Given the description of an element on the screen output the (x, y) to click on. 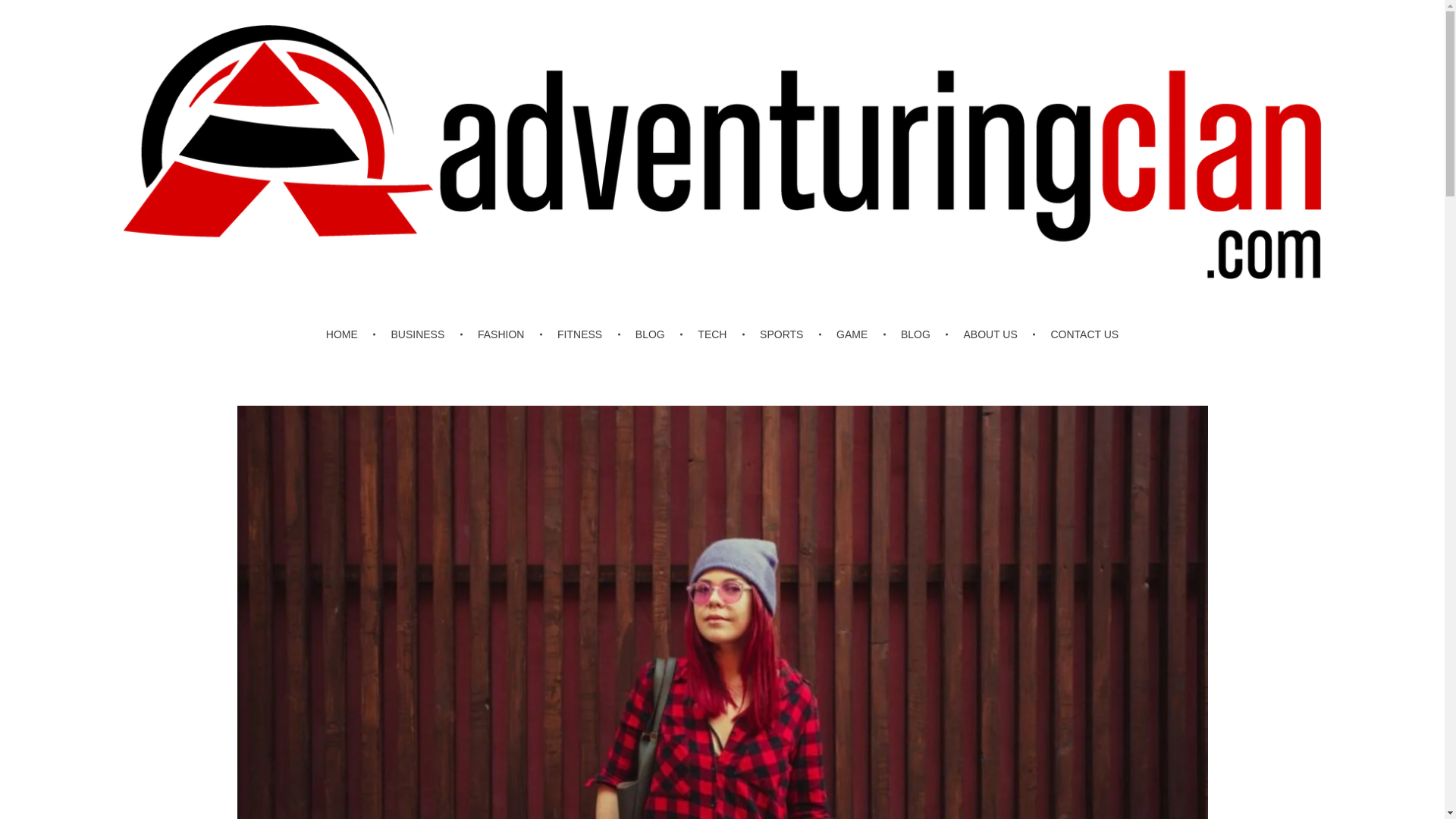
ABOUT US (992, 334)
GAME (854, 334)
SPORTS (783, 334)
HOME (351, 334)
CONTACT US (1077, 334)
FITNESS (582, 334)
BLOG (652, 334)
BLOG (918, 334)
FASHION (503, 334)
BUSINESS (420, 334)
